Given the description of an element on the screen output the (x, y) to click on. 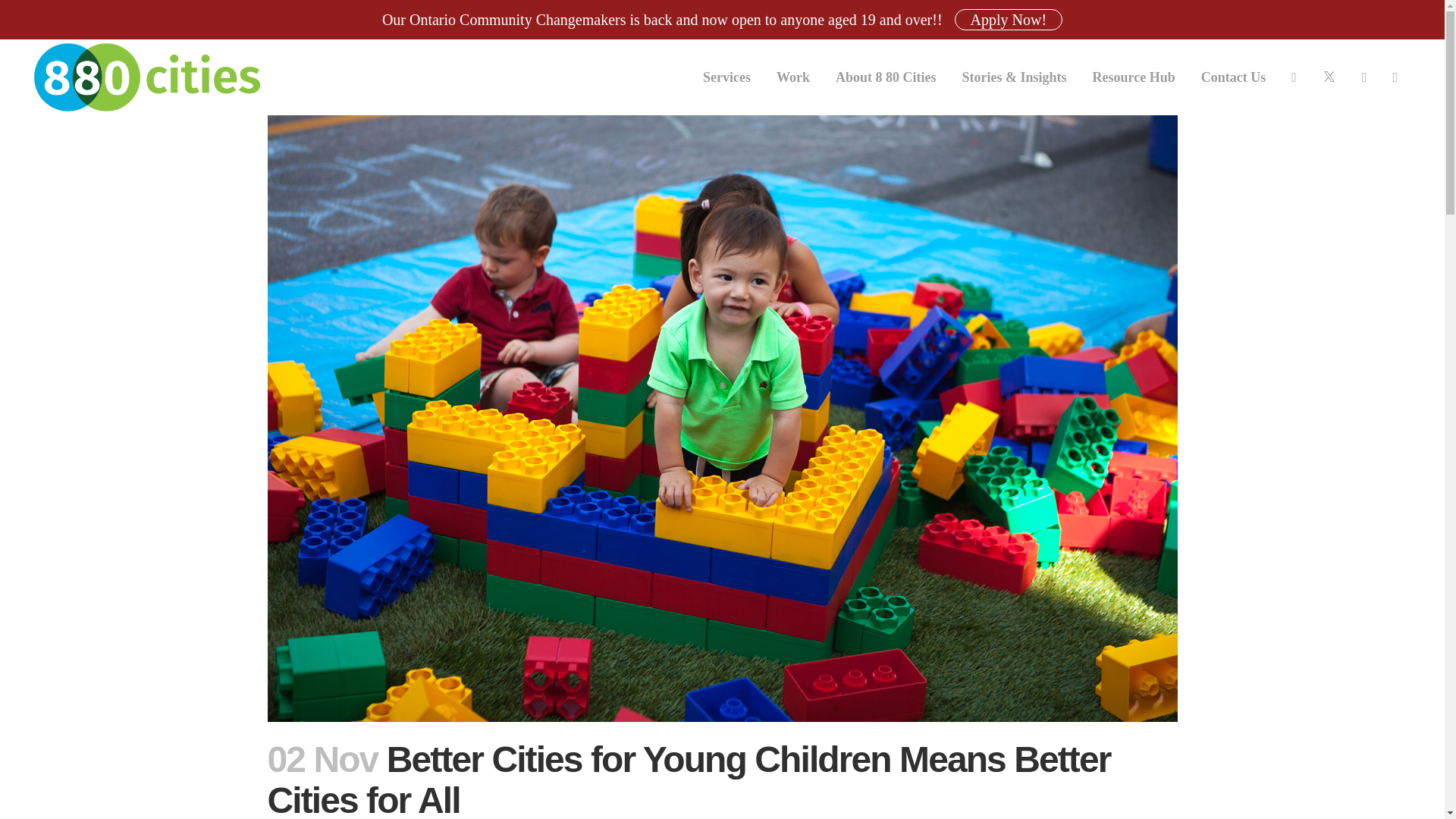
About 8 80 Cities (885, 77)
Services (726, 77)
Apply Now! (1008, 19)
Resource Hub (1134, 77)
Contact Us (1233, 77)
Work (792, 77)
